Given the description of an element on the screen output the (x, y) to click on. 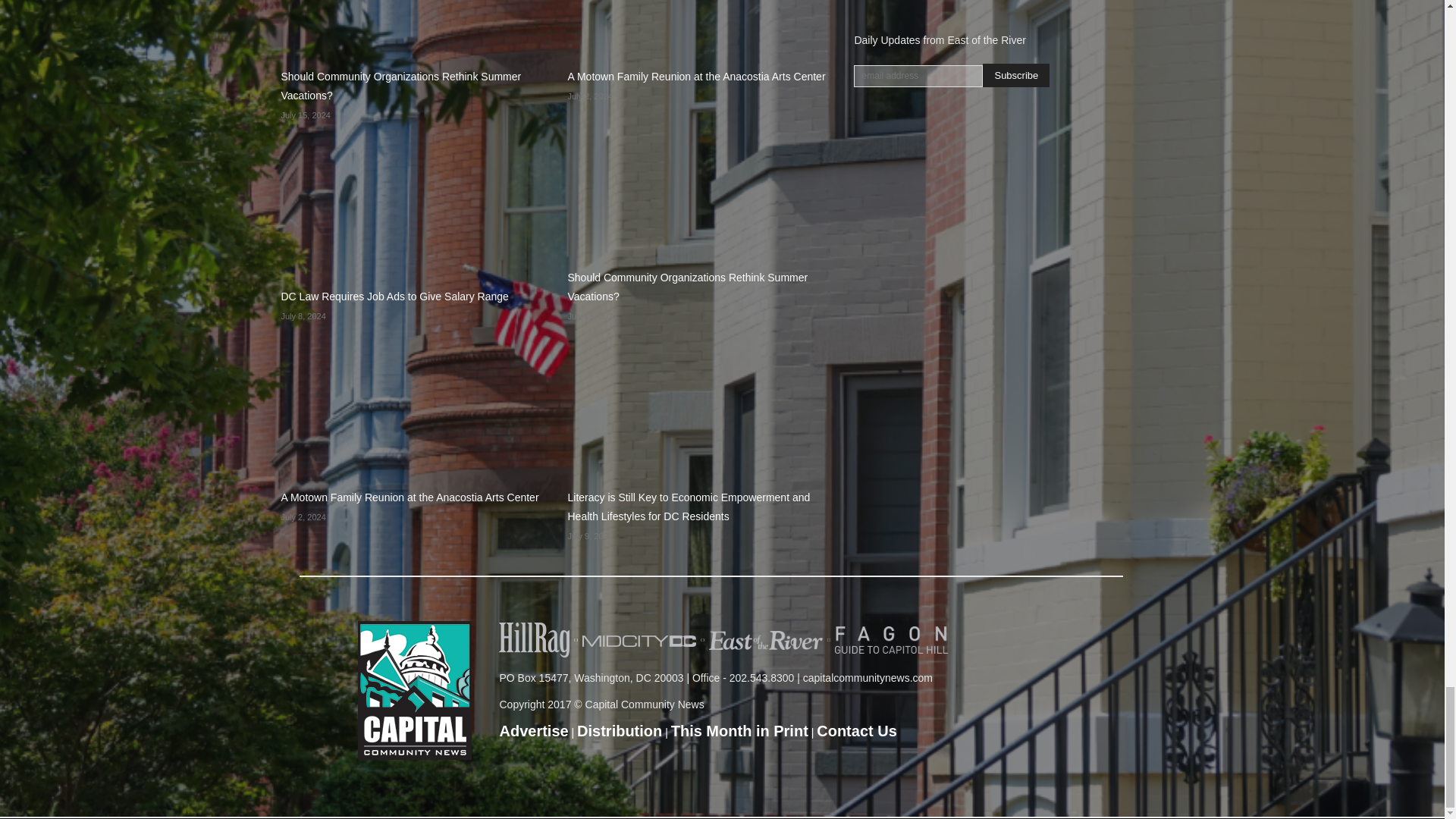
Subscribe (1015, 74)
